Given the description of an element on the screen output the (x, y) to click on. 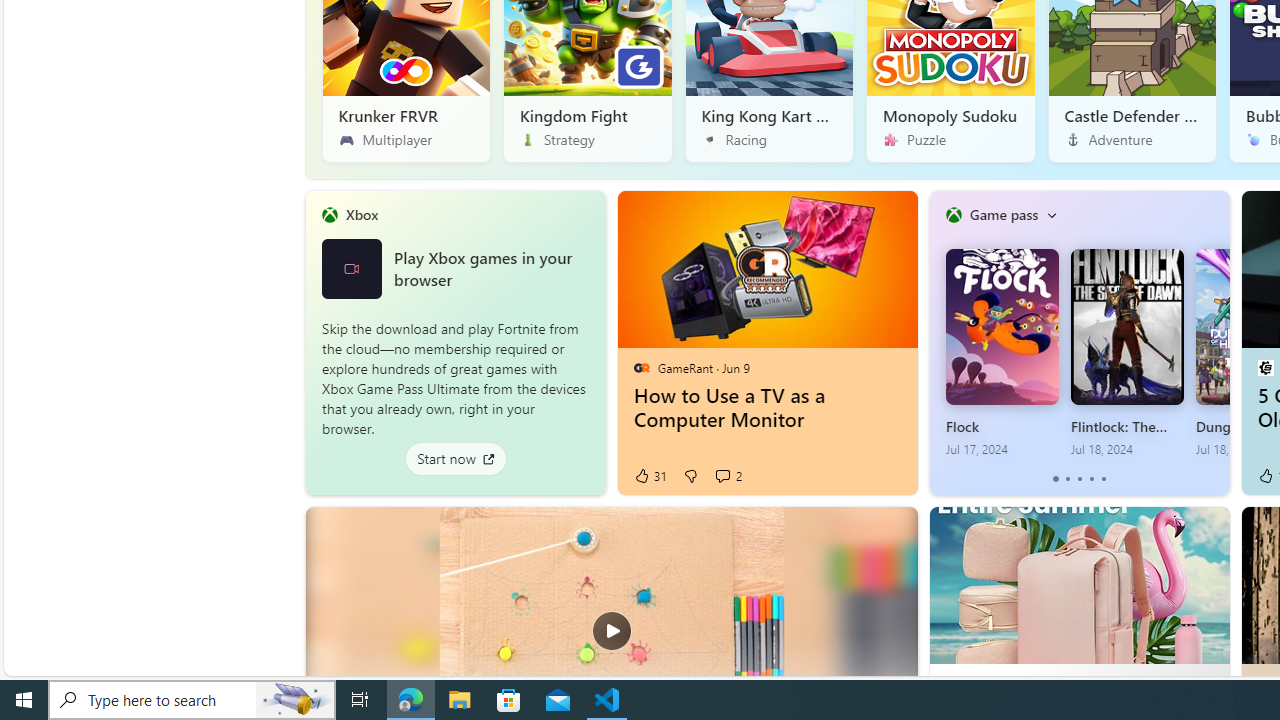
Game pass (1003, 214)
Start now (454, 458)
How to Use a TV as a Computer Monitor (767, 407)
GameRant (641, 367)
View comments 2 Comment (728, 475)
Class: icon-img (1051, 214)
Flock Jul 17, 2024 (1001, 353)
Xbox (361, 214)
tab-2 (1078, 479)
SlashGear (1264, 367)
